Given the description of an element on the screen output the (x, y) to click on. 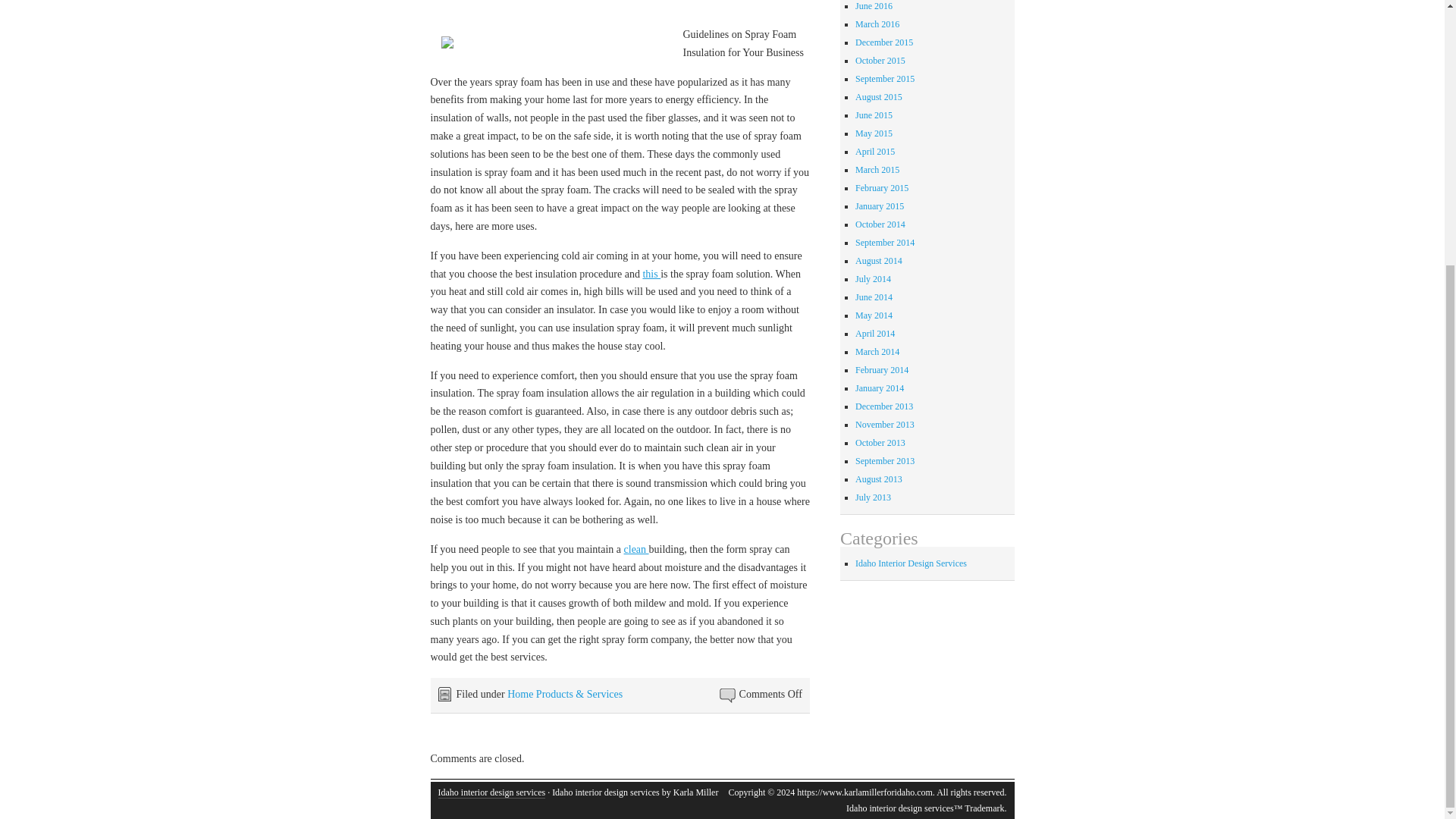
this (651, 274)
July 2014 (873, 278)
February 2015 (882, 187)
January 2015 (880, 205)
March 2016 (877, 23)
June 2016 (874, 5)
View all posts filed under Idaho Interior Design Services (911, 562)
April 2014 (875, 333)
May 2014 (874, 315)
June 2015 (874, 114)
